Given the description of an element on the screen output the (x, y) to click on. 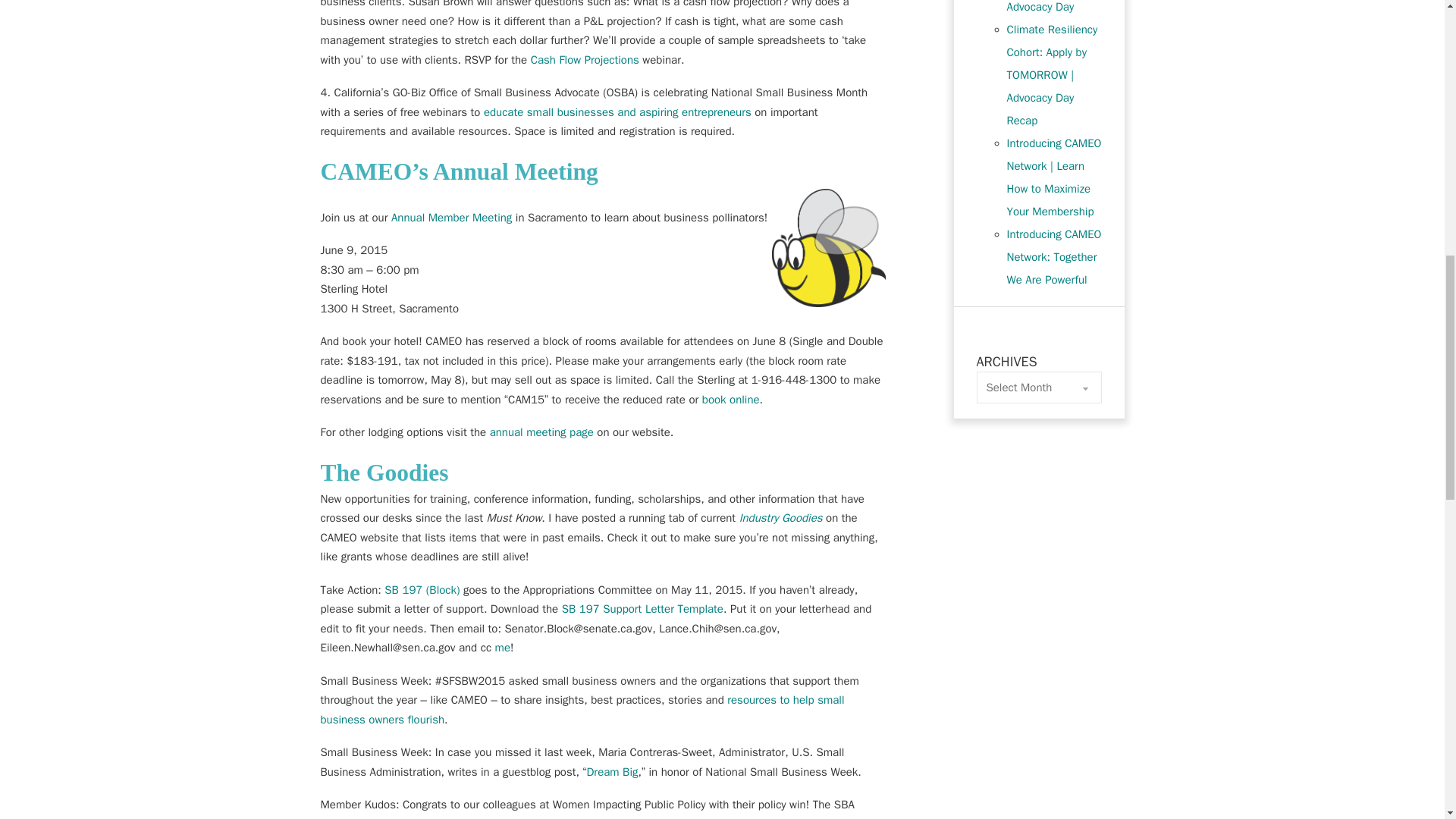
Sterling Hotel Sacramento (730, 399)
